Given the description of an element on the screen output the (x, y) to click on. 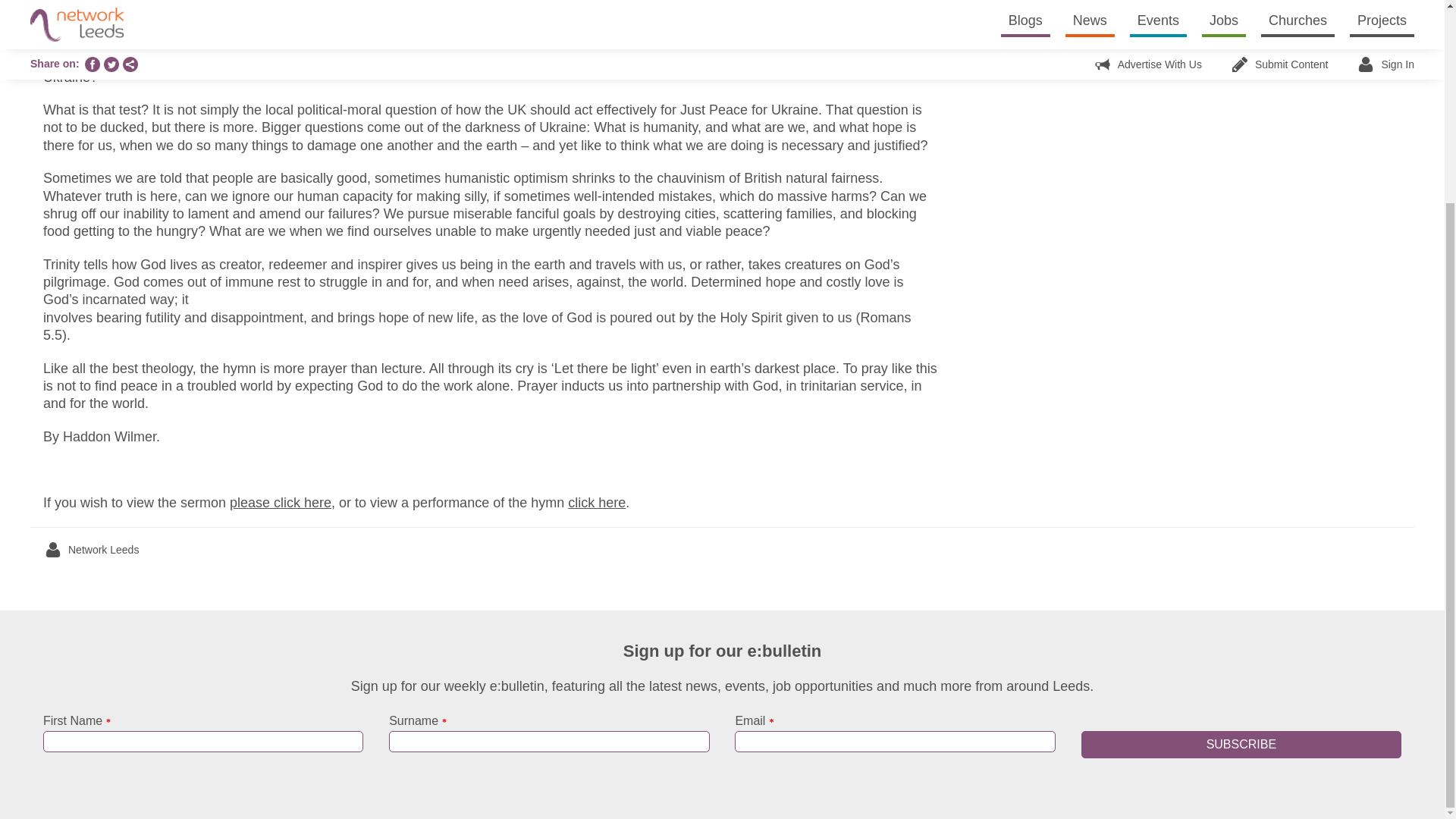
please click here (280, 502)
click here (596, 502)
SUBSCRIBE (1241, 744)
